Given the description of an element on the screen output the (x, y) to click on. 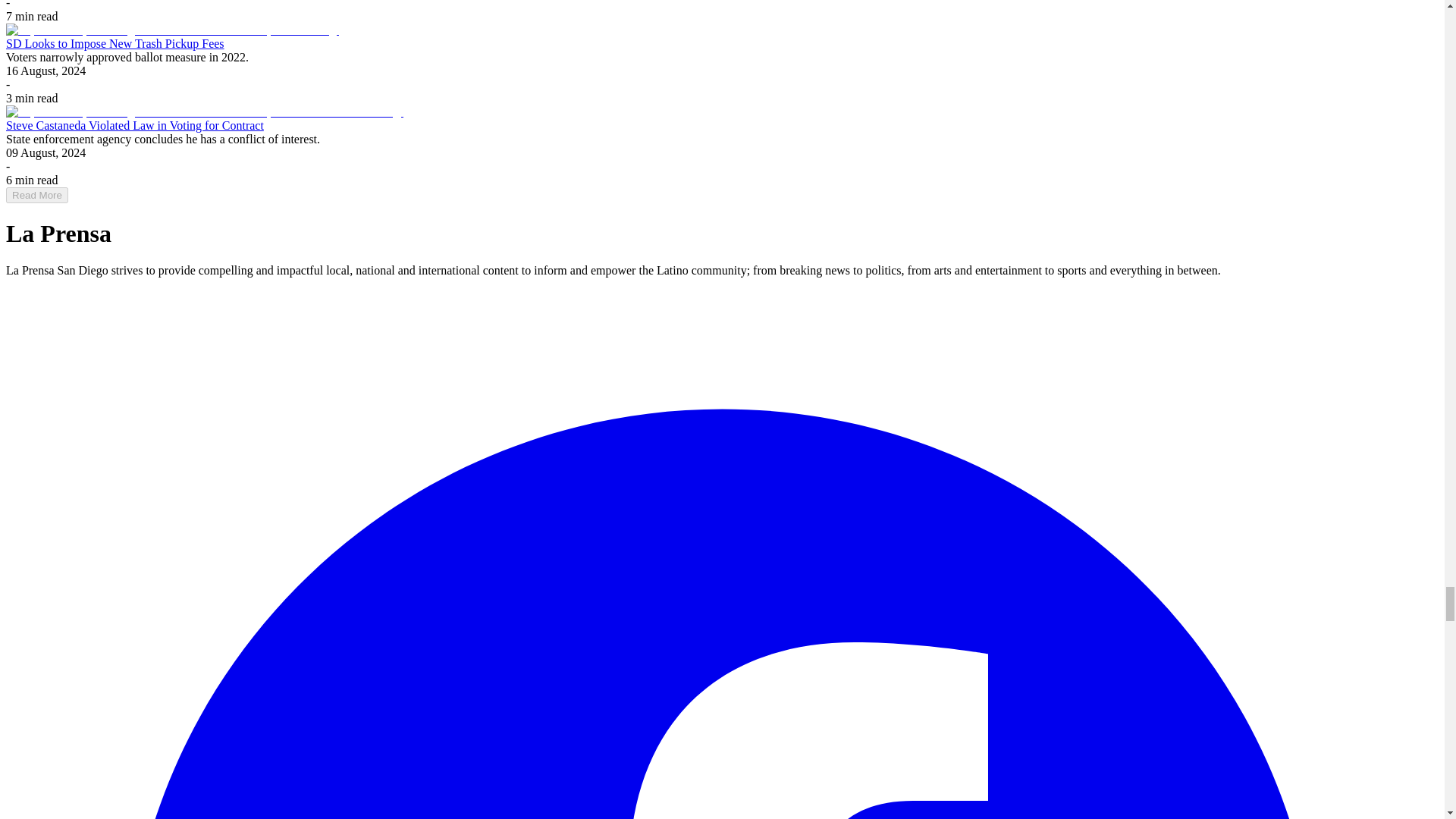
Steve Castaneda Violated Law in Voting for Contract (134, 124)
Read More (36, 195)
SD Looks to Impose New Trash Pickup Fees (114, 42)
